Given the description of an element on the screen output the (x, y) to click on. 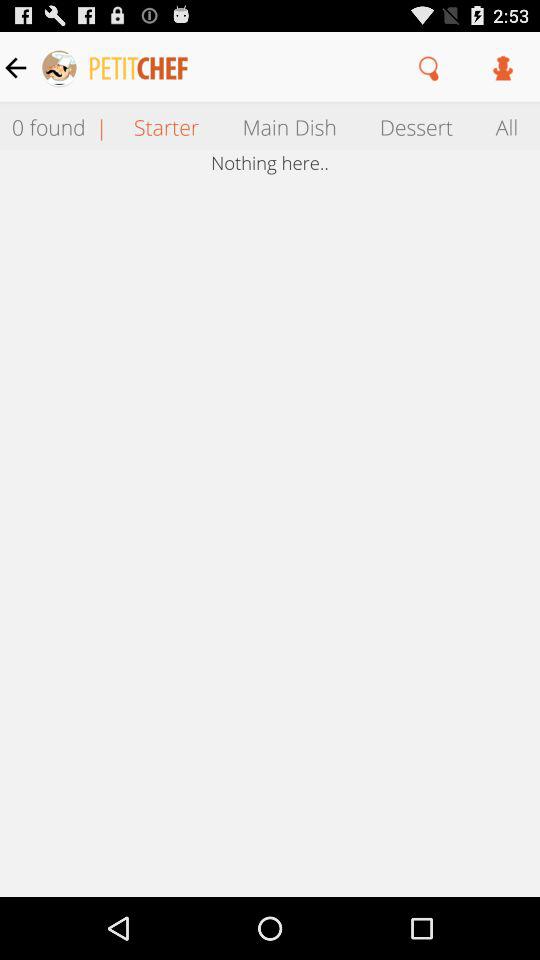
select the icon next to | item (166, 126)
